Given the description of an element on the screen output the (x, y) to click on. 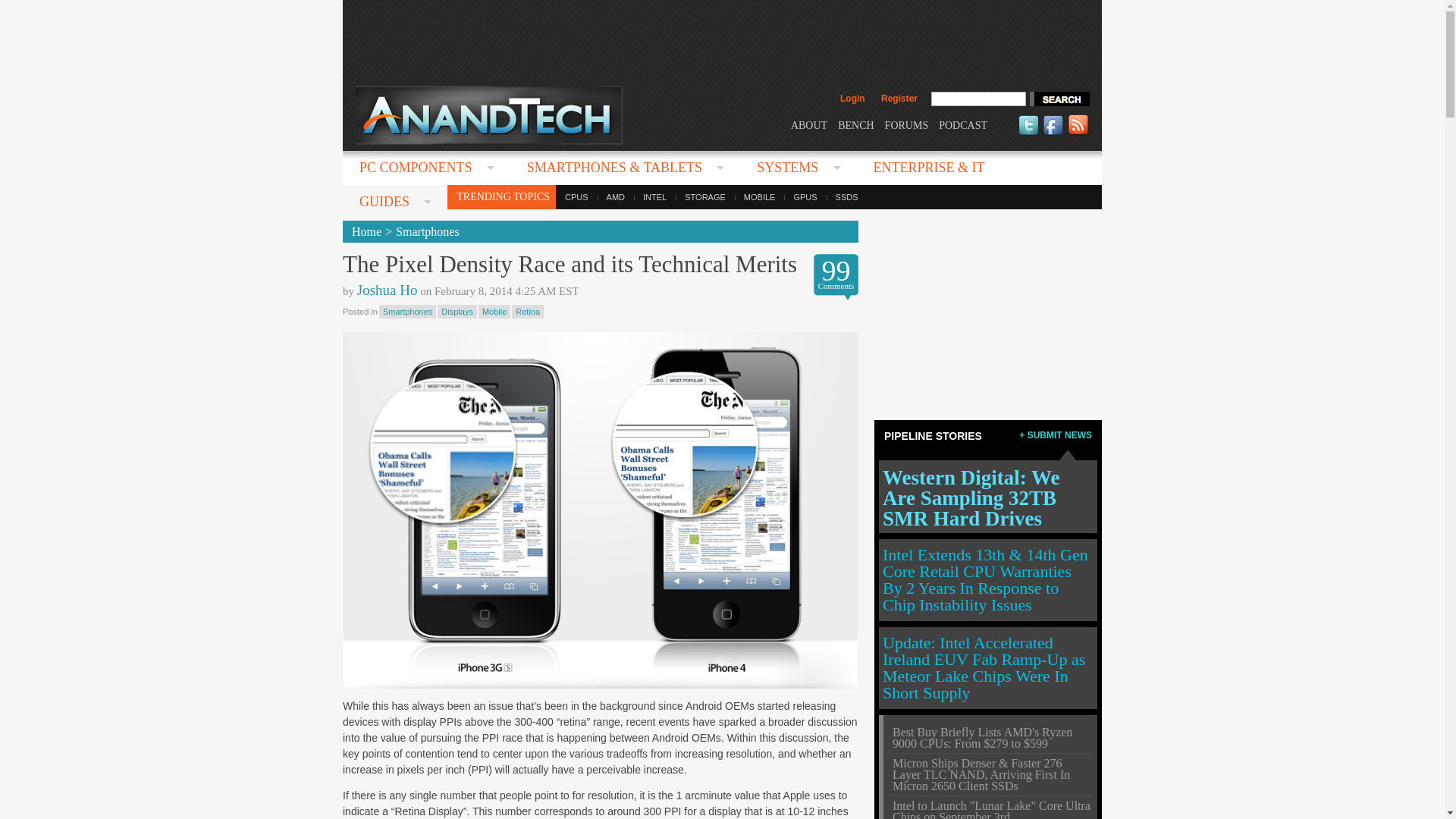
ABOUT (808, 125)
BENCH (855, 125)
PODCAST (963, 125)
search (1059, 98)
search (1059, 98)
Login (852, 98)
Register (898, 98)
search (1059, 98)
FORUMS (906, 125)
